Given the description of an element on the screen output the (x, y) to click on. 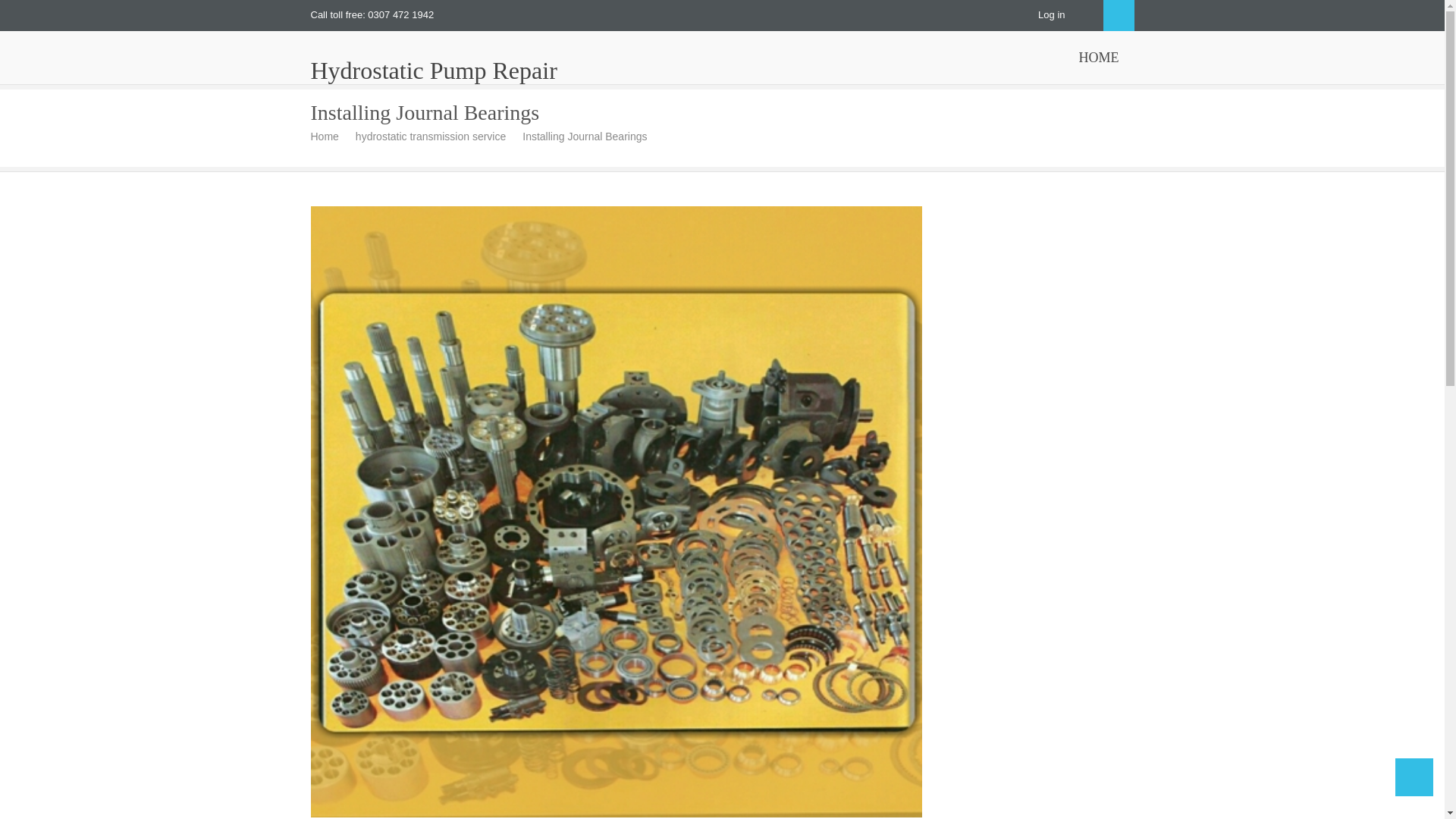
Home (330, 136)
Search (1118, 15)
Log in (1051, 14)
Search (1118, 15)
HOME (1098, 57)
hydrostatic transmission service (435, 136)
Hydrostatic Pump Repair (434, 70)
